Given the description of an element on the screen output the (x, y) to click on. 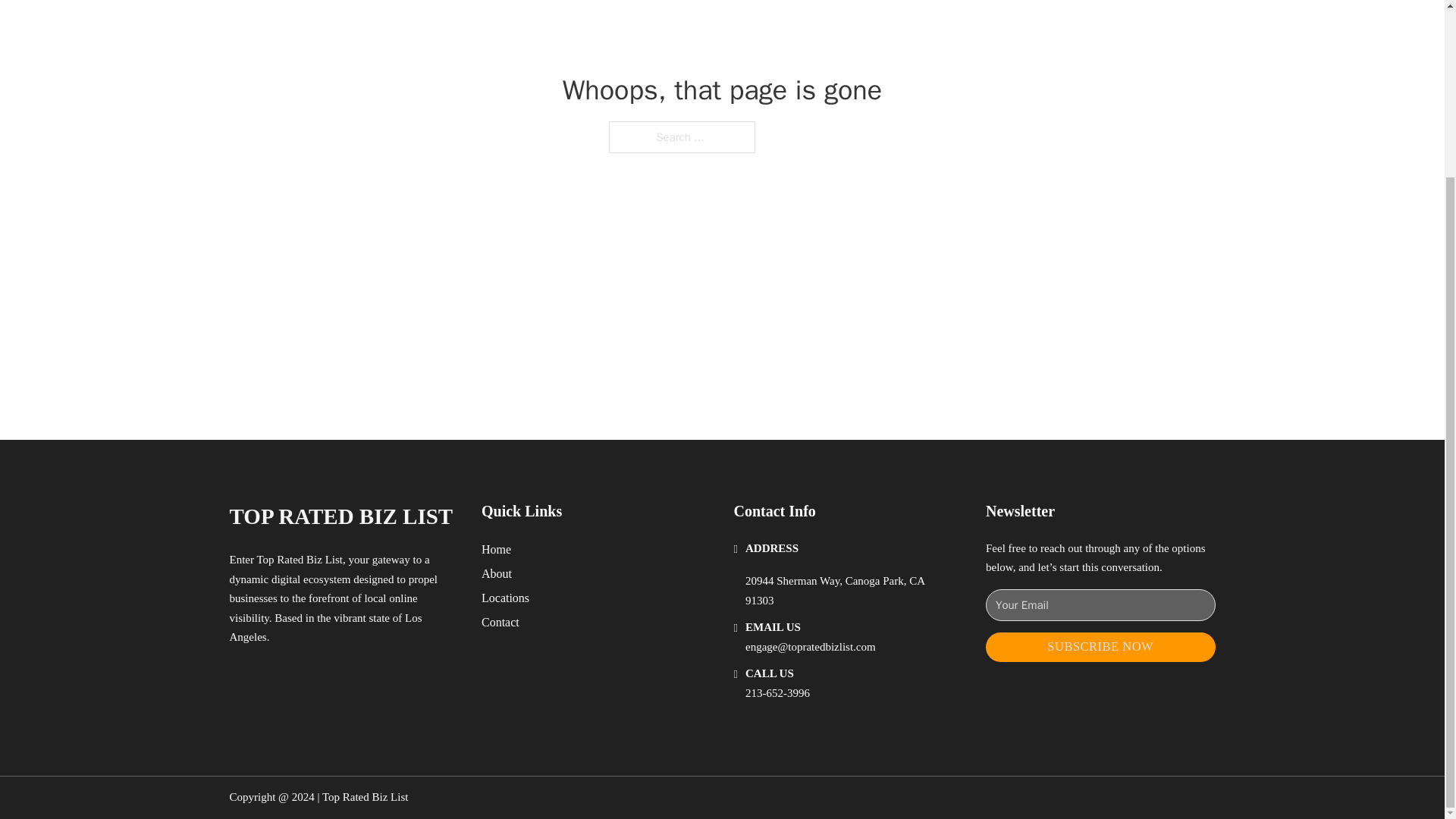
Locations (505, 598)
TOP RATED BIZ LIST (340, 516)
Contact (500, 621)
SUBSCRIBE NOW (1100, 646)
Home (496, 548)
213-652-3996 (777, 693)
About (496, 573)
